Given the description of an element on the screen output the (x, y) to click on. 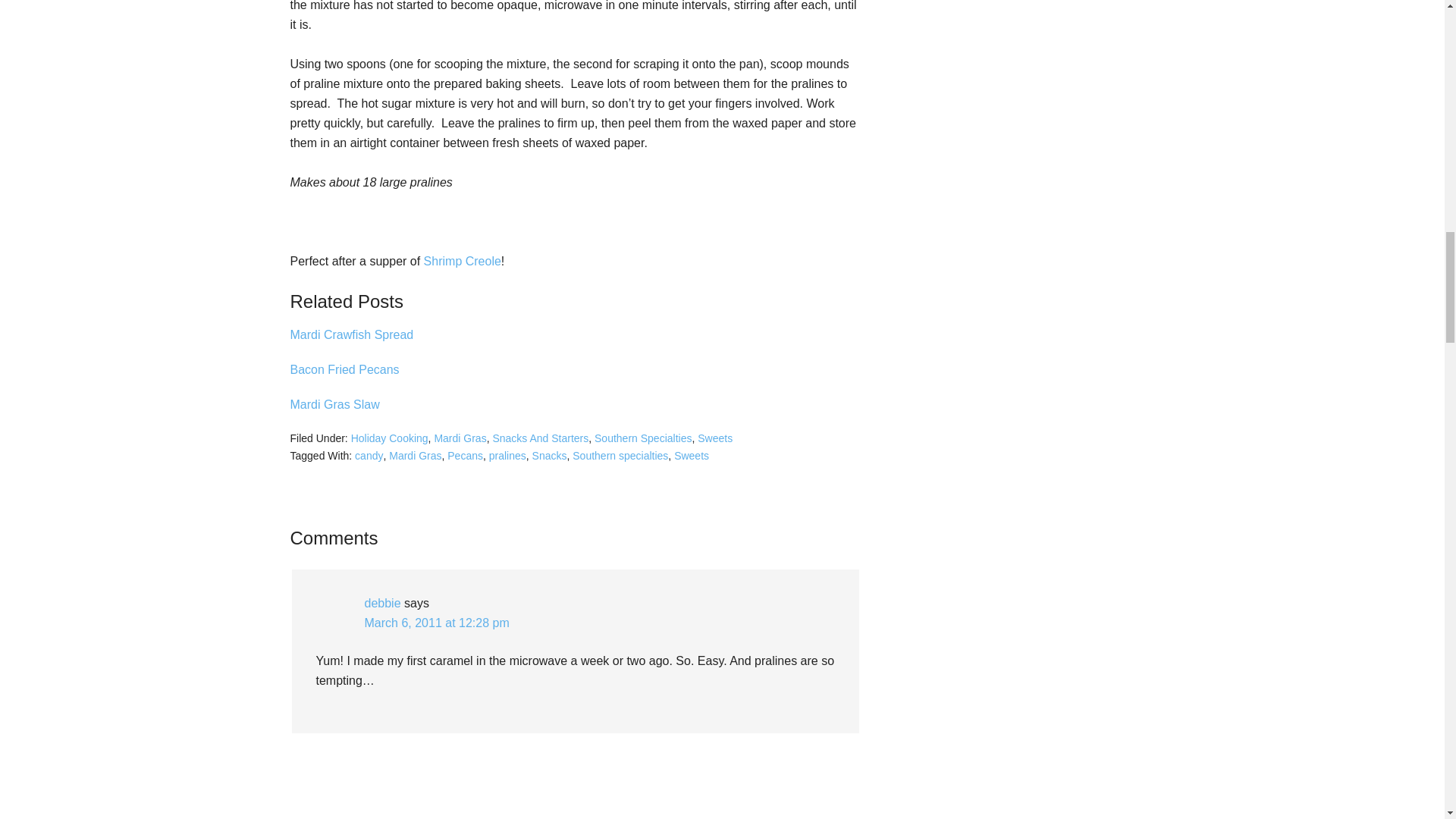
Snacks And Starters (540, 438)
Mardi Crawfish Spread (351, 334)
Sweets (691, 455)
Shrimp Creole (461, 260)
Southern Specialties (642, 438)
pralines (507, 455)
Mardi Gras (459, 438)
Mardi Gras (414, 455)
March 6, 2011 at 12:28 pm (436, 622)
Southern specialties (620, 455)
Pecans (464, 455)
candy (368, 455)
Sweets (714, 438)
Bacon Fried Pecans (343, 369)
debbie (382, 603)
